Given the description of an element on the screen output the (x, y) to click on. 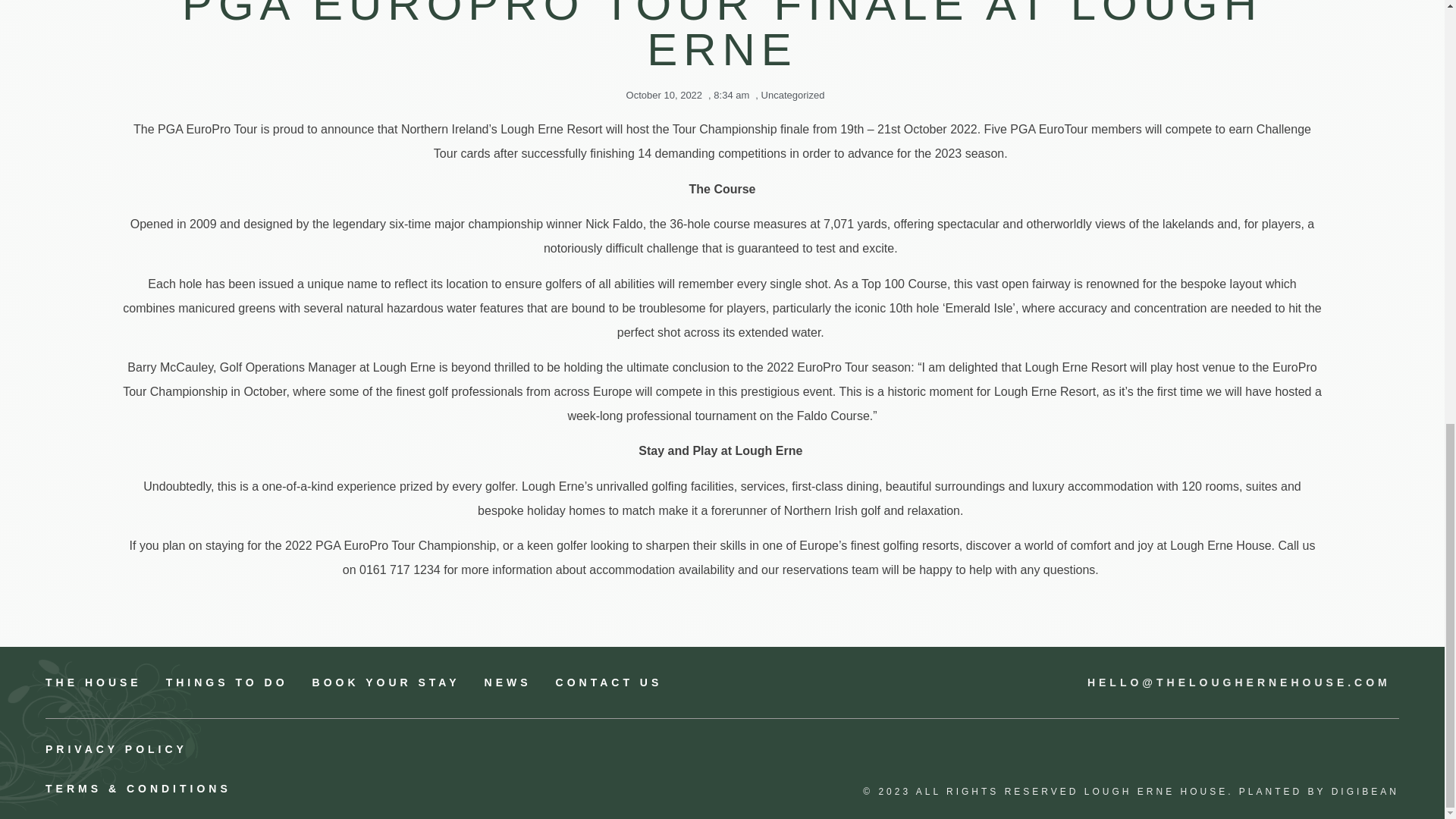
PRIVACY POLICY (383, 749)
CONTACT US (609, 682)
THINGS TO DO (226, 682)
October 10, 2022 (660, 95)
THE HOUSE (93, 682)
NEWS (507, 682)
BOOK YOUR STAY (386, 682)
Uncategorized (793, 94)
DIGIBEAN (1365, 791)
